Given the description of an element on the screen output the (x, y) to click on. 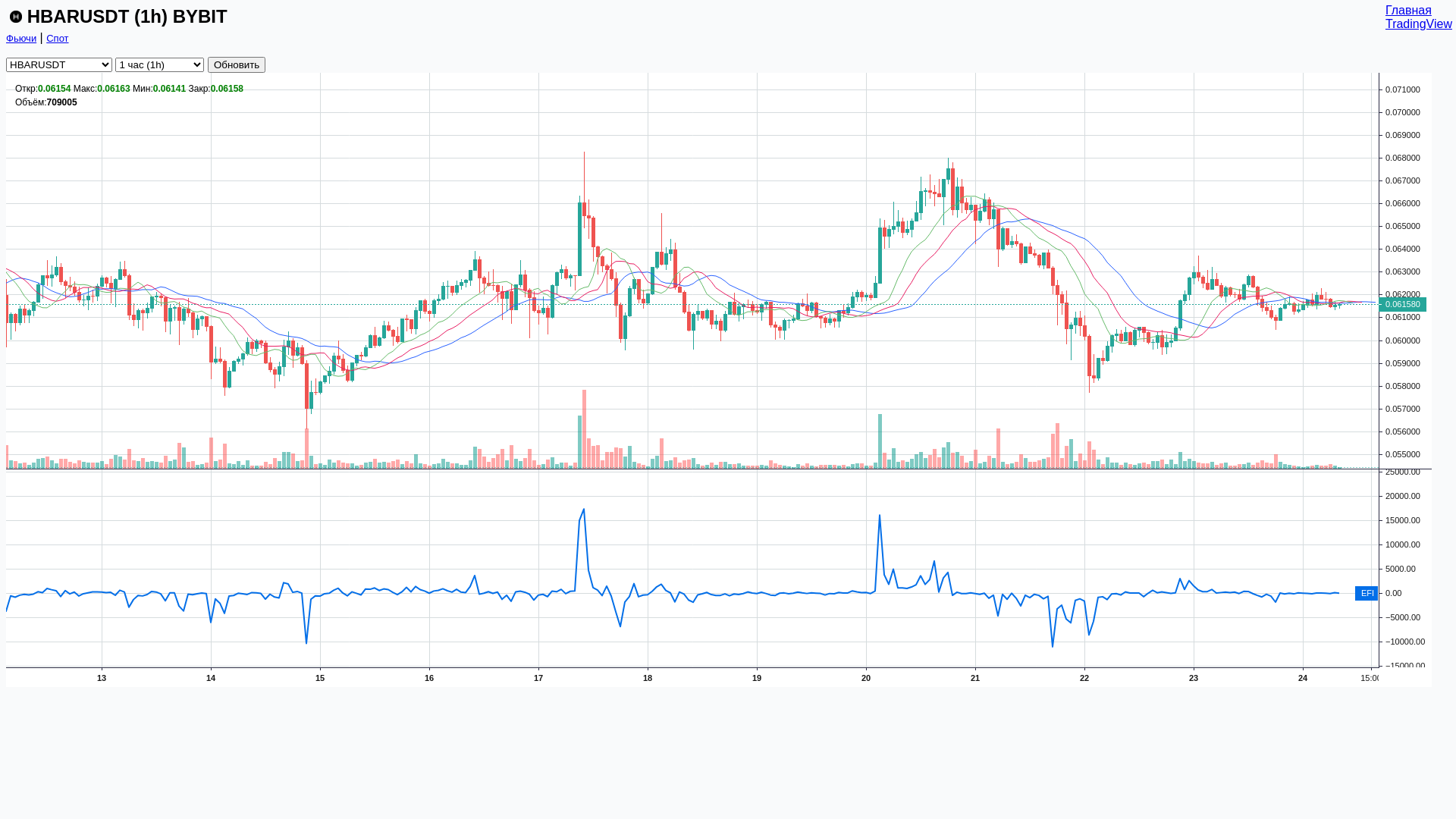
HBARUSDT Element type: hover (15, 16)
TradingView Element type: text (1418, 23)
